Given the description of an element on the screen output the (x, y) to click on. 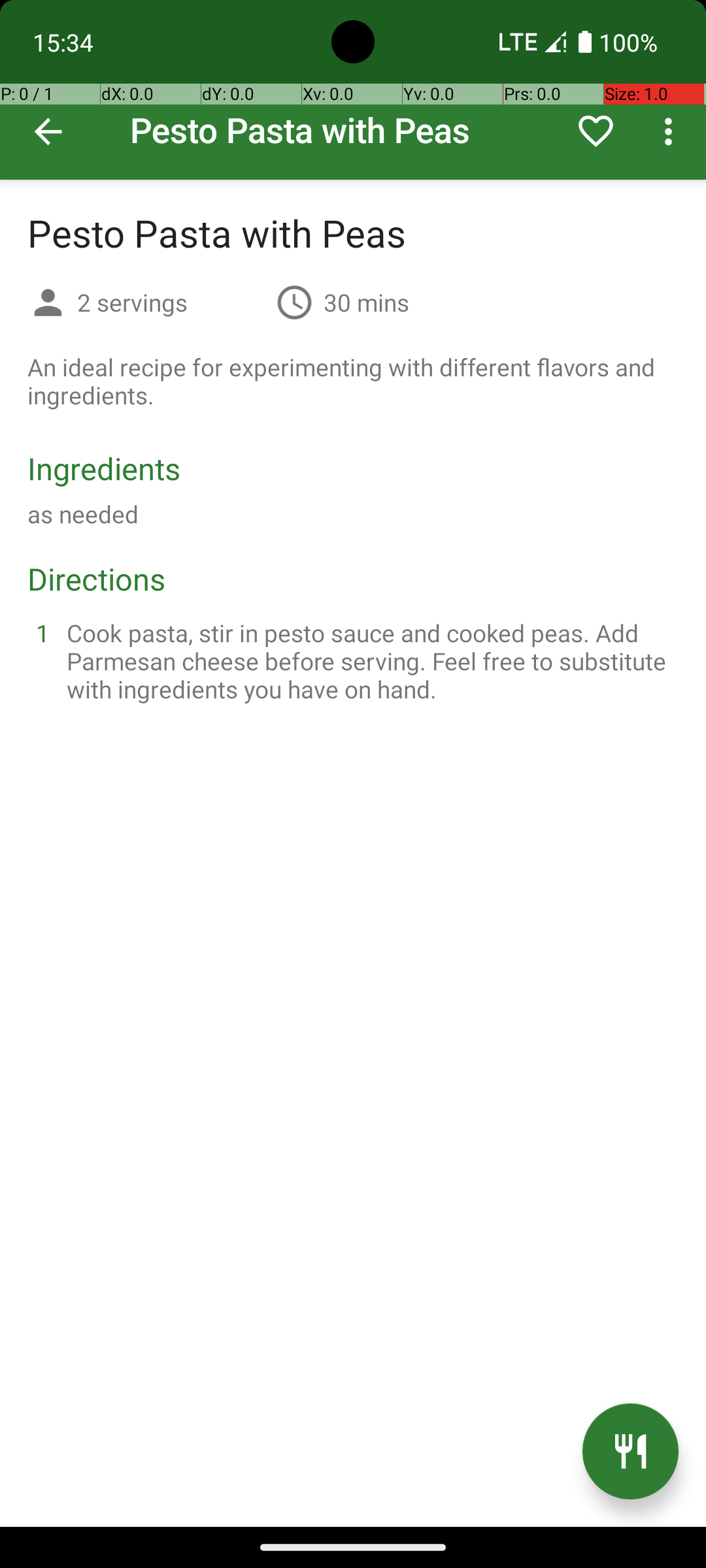
Cook pasta, stir in pesto sauce and cooked peas. Add Parmesan cheese before serving. Feel free to substitute with ingredients you have on hand. Element type: android.widget.TextView (368, 660)
